Given the description of an element on the screen output the (x, y) to click on. 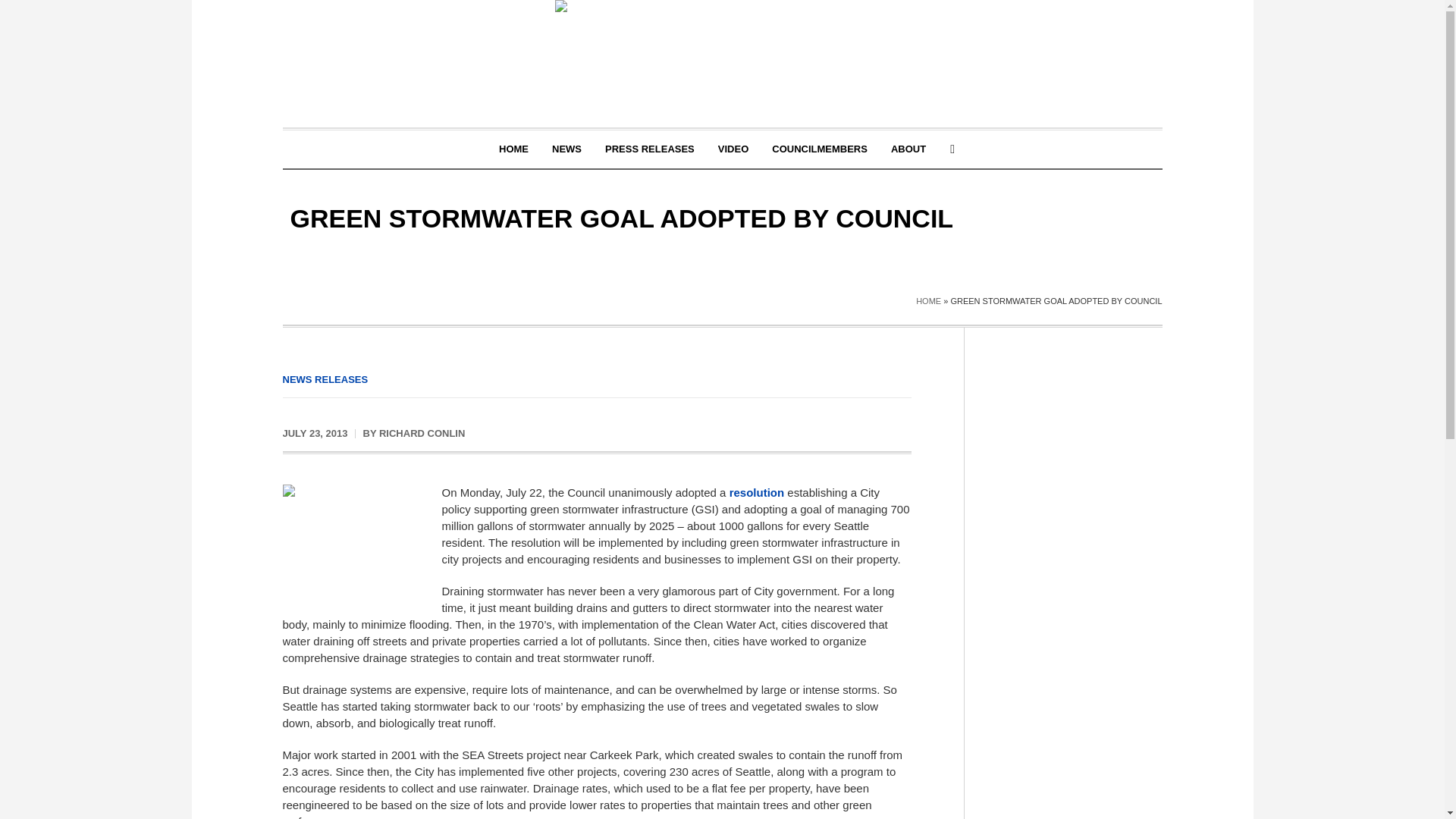
Posts by Richard Conlin (421, 432)
RICHARD CONLIN (421, 432)
July 23, 2013 (314, 433)
COUNCILMEMBERS (819, 149)
HOME (927, 300)
NEWS RELEASES (325, 378)
VIDEO (733, 149)
NEWS (566, 149)
ABOUT (908, 149)
resolution (756, 492)
PRESS RELEASES (650, 149)
HOME (513, 149)
